Given the description of an element on the screen output the (x, y) to click on. 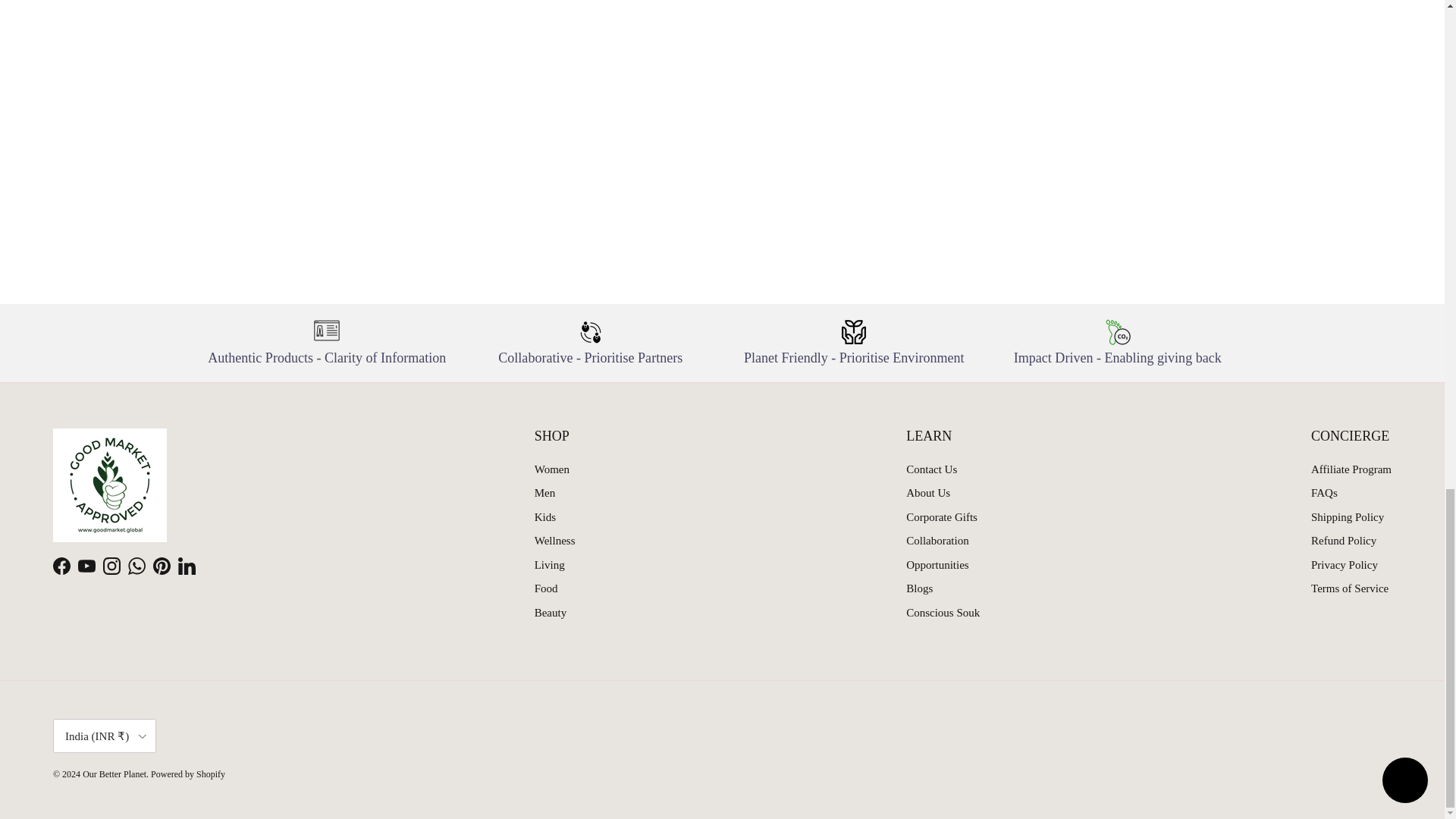
Our Better Planet on YouTube (87, 565)
Our Better Planet on Facebook (60, 565)
Our Better Planet on LinkedIn (186, 565)
Our Better Planet on WhatsApp (136, 565)
Our Better Planet on Pinterest (161, 565)
Our Better Planet on Instagram (111, 565)
